Given the description of an element on the screen output the (x, y) to click on. 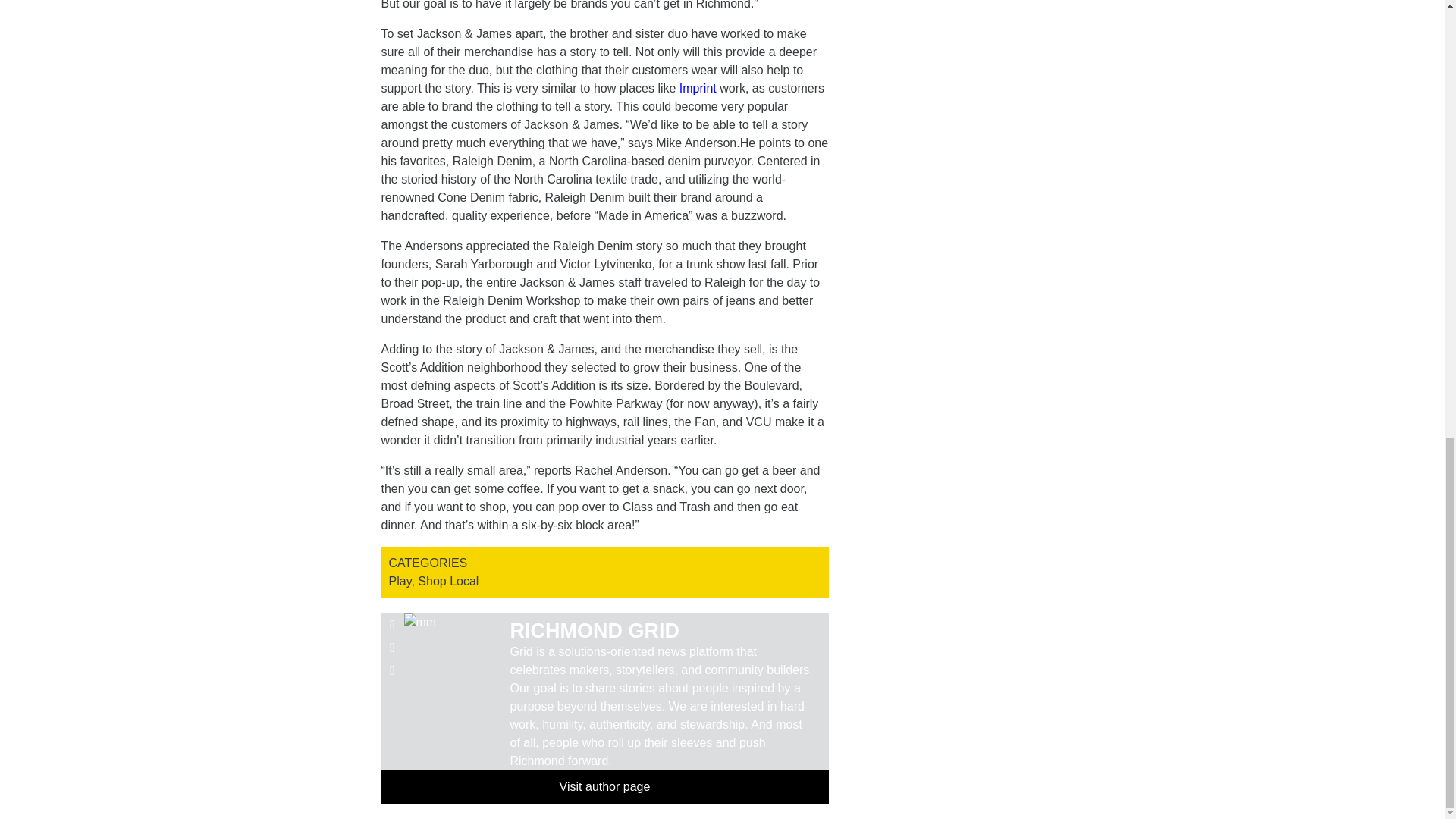
Shop Local (448, 581)
Visit author page (604, 786)
RICHMOND GRID (594, 630)
Play (399, 581)
Instagram (391, 670)
Twitter (391, 647)
Imprint (697, 88)
Facebook (391, 624)
